Given the description of an element on the screen output the (x, y) to click on. 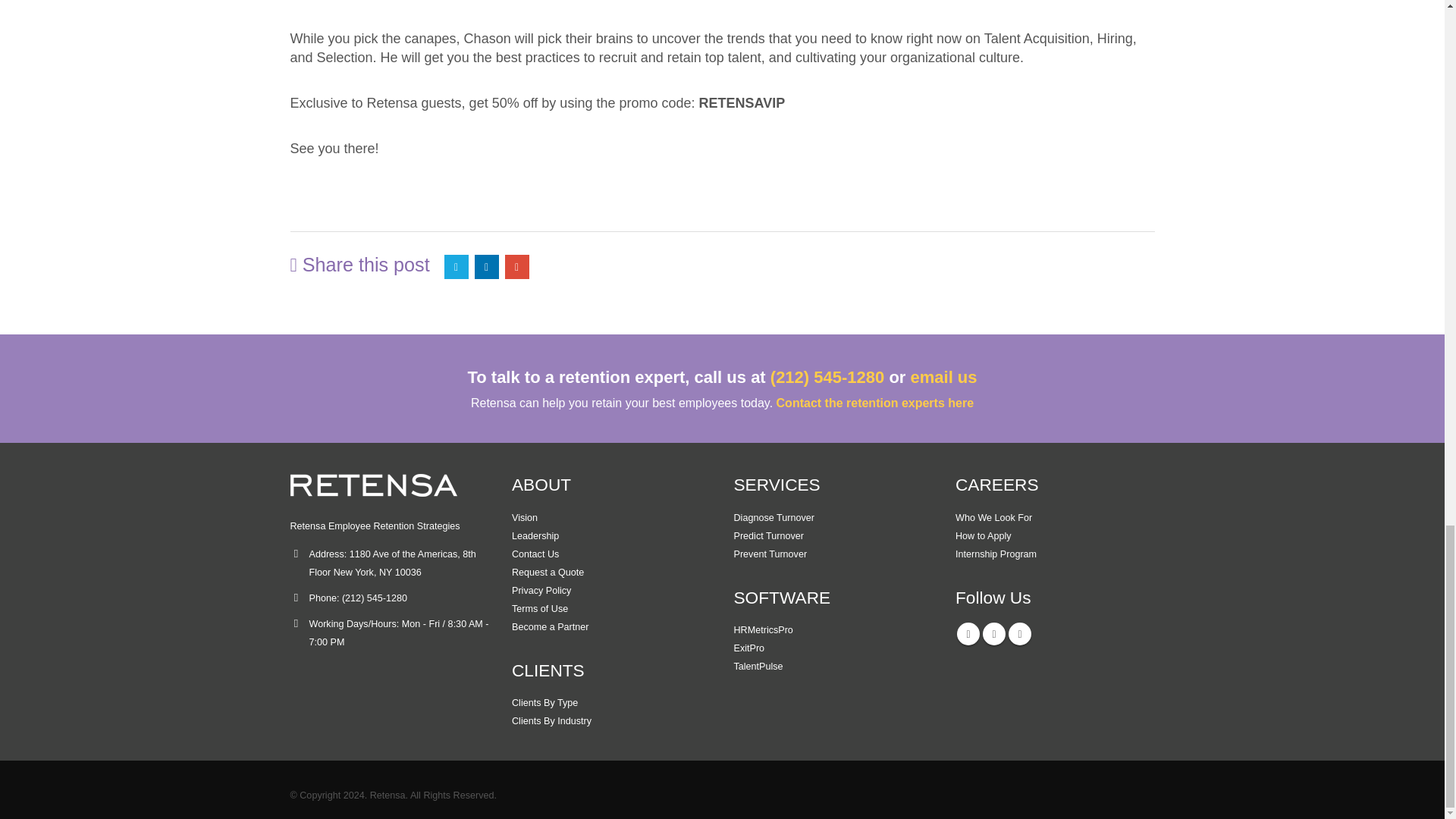
Contact Retensa (535, 553)
Privacy Policy (541, 590)
Engage and Inspire every Workplace to Motivate and Retain (524, 517)
Request a Quote from Retention Experts (547, 572)
Employee Retention Consultants at Retensa (535, 535)
